Given the description of an element on the screen output the (x, y) to click on. 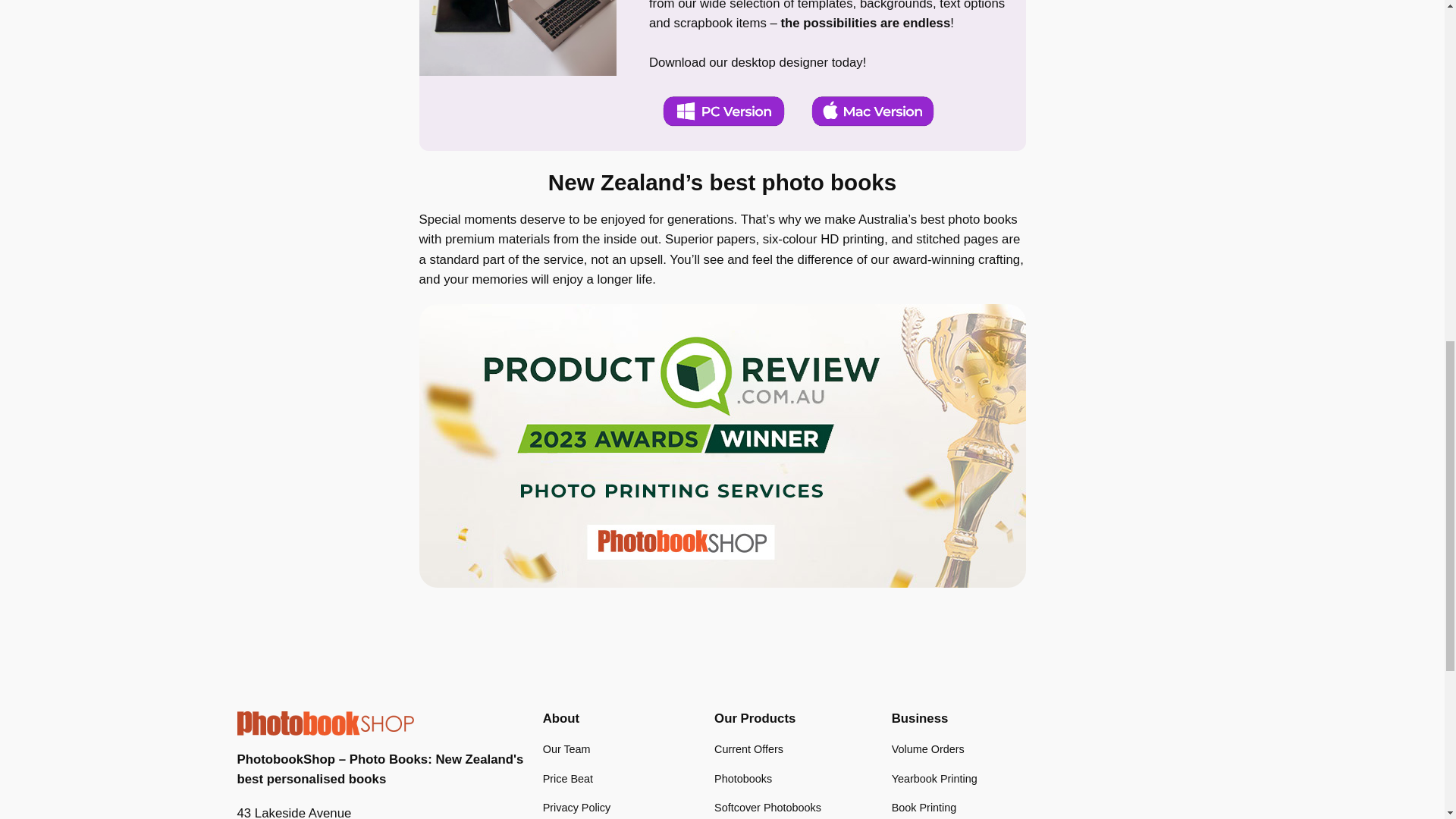
Current Offers (748, 749)
Volume Orders (927, 749)
Our Team (567, 749)
Photobooks (742, 778)
Softcover Photobooks (767, 807)
Privacy Policy (577, 807)
Yearbook Printing (933, 778)
Book Printing (923, 807)
Price Beat (567, 778)
